Given the description of an element on the screen output the (x, y) to click on. 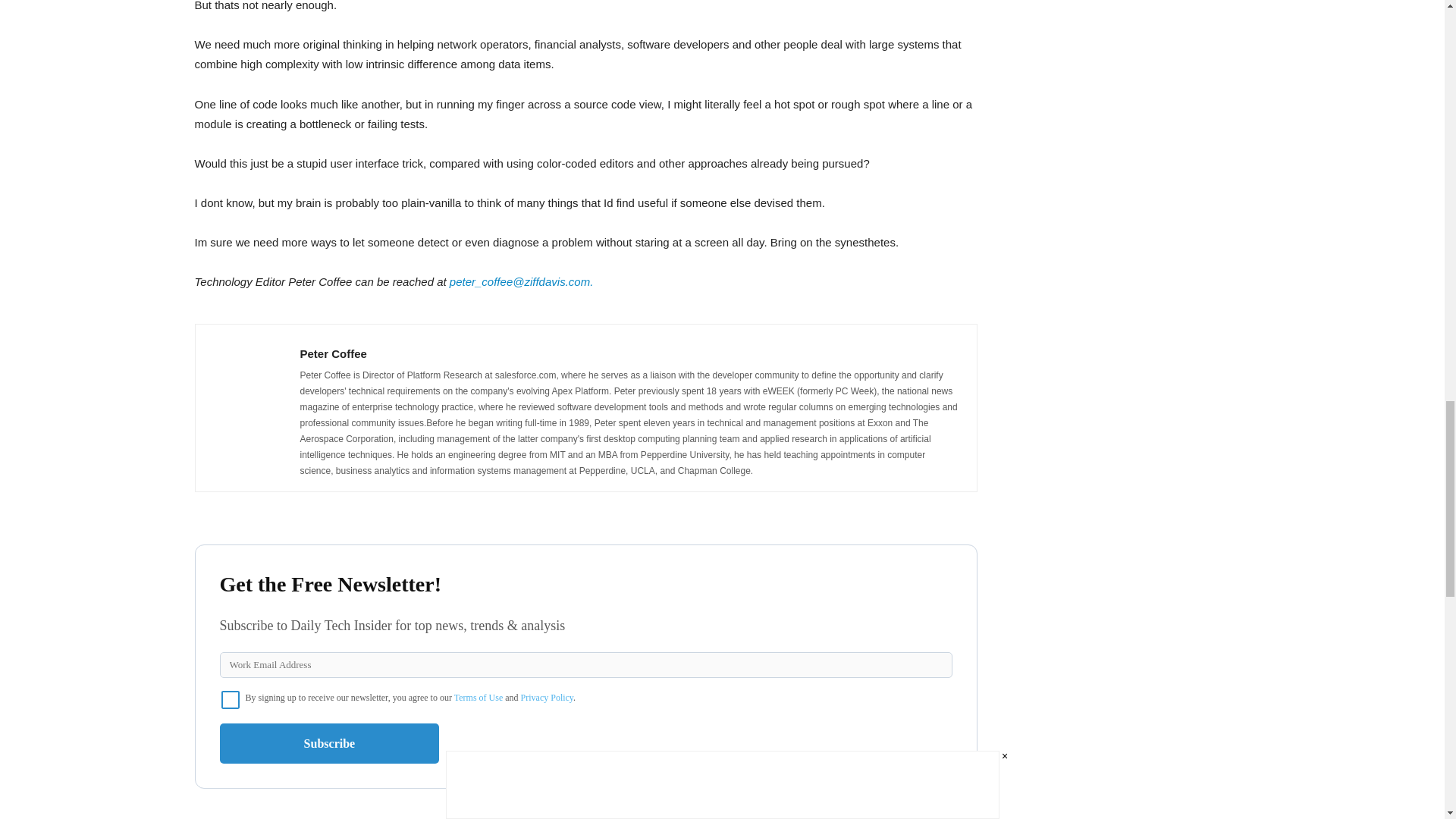
on (230, 700)
